Given the description of an element on the screen output the (x, y) to click on. 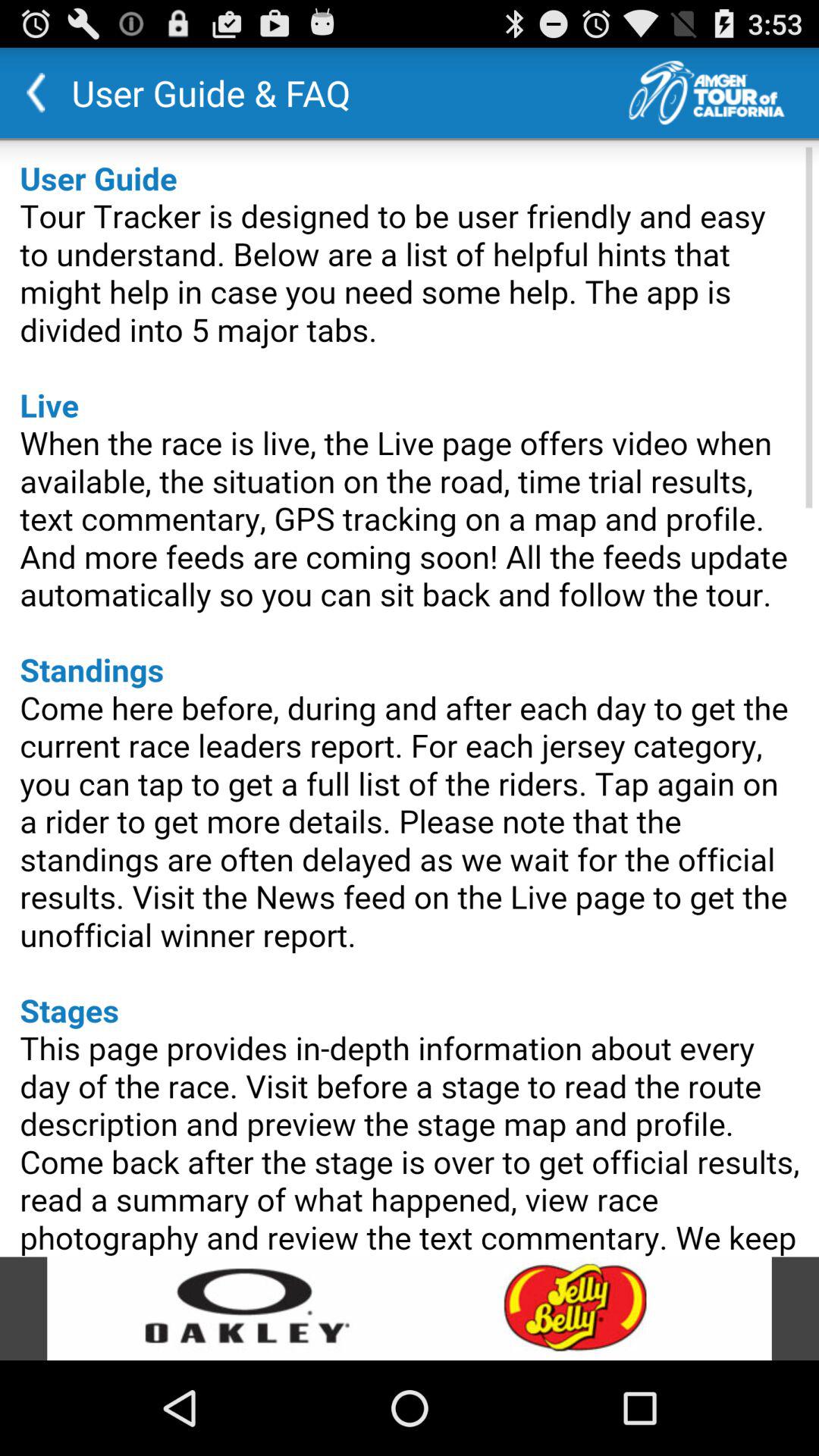
turn off item at the bottom (409, 1308)
